Given the description of an element on the screen output the (x, y) to click on. 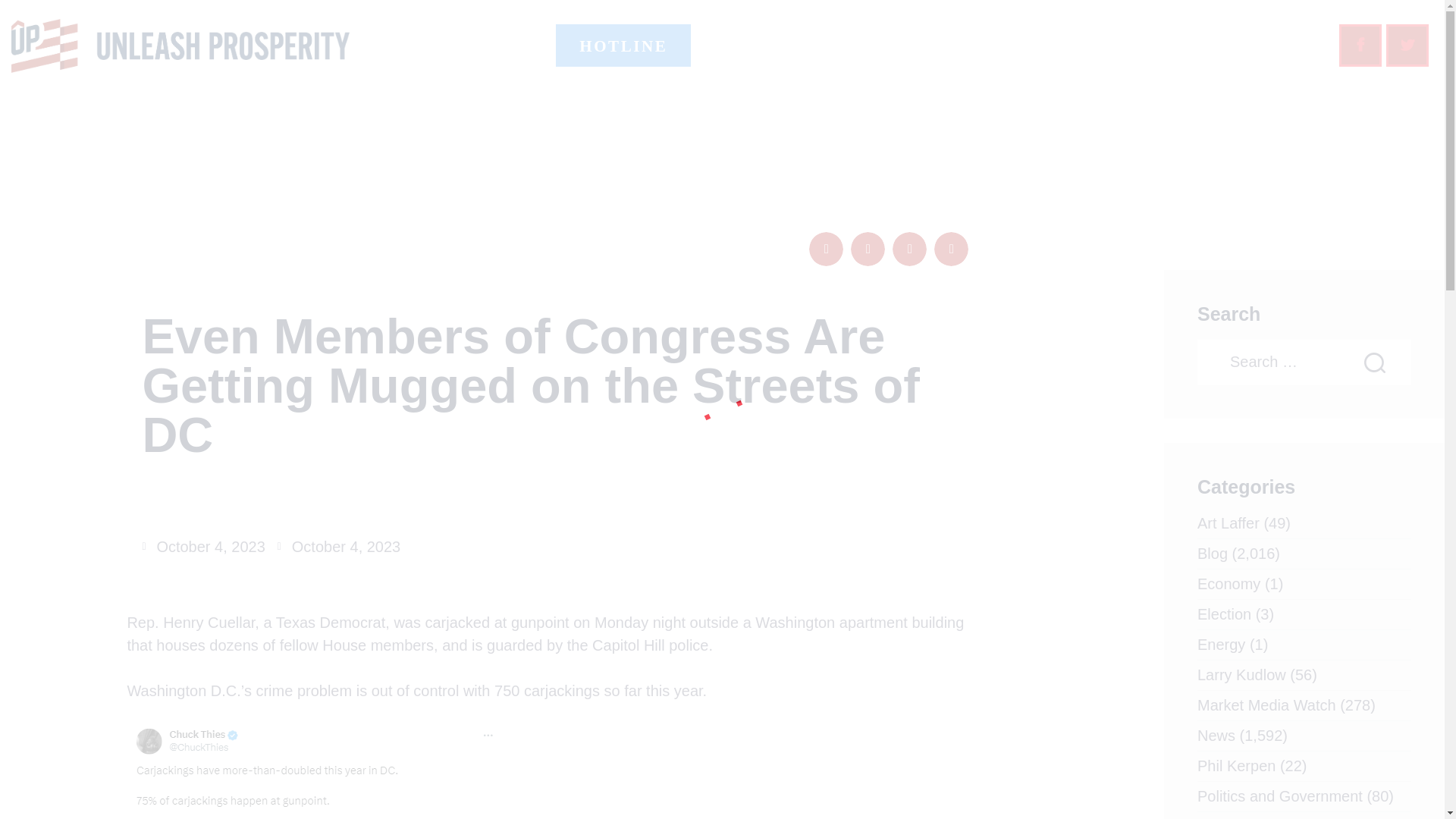
Search (1389, 361)
HOTLINE (623, 45)
October 4, 2023 (339, 546)
October 4, 2023 (202, 546)
Search (1389, 361)
